Given the description of an element on the screen output the (x, y) to click on. 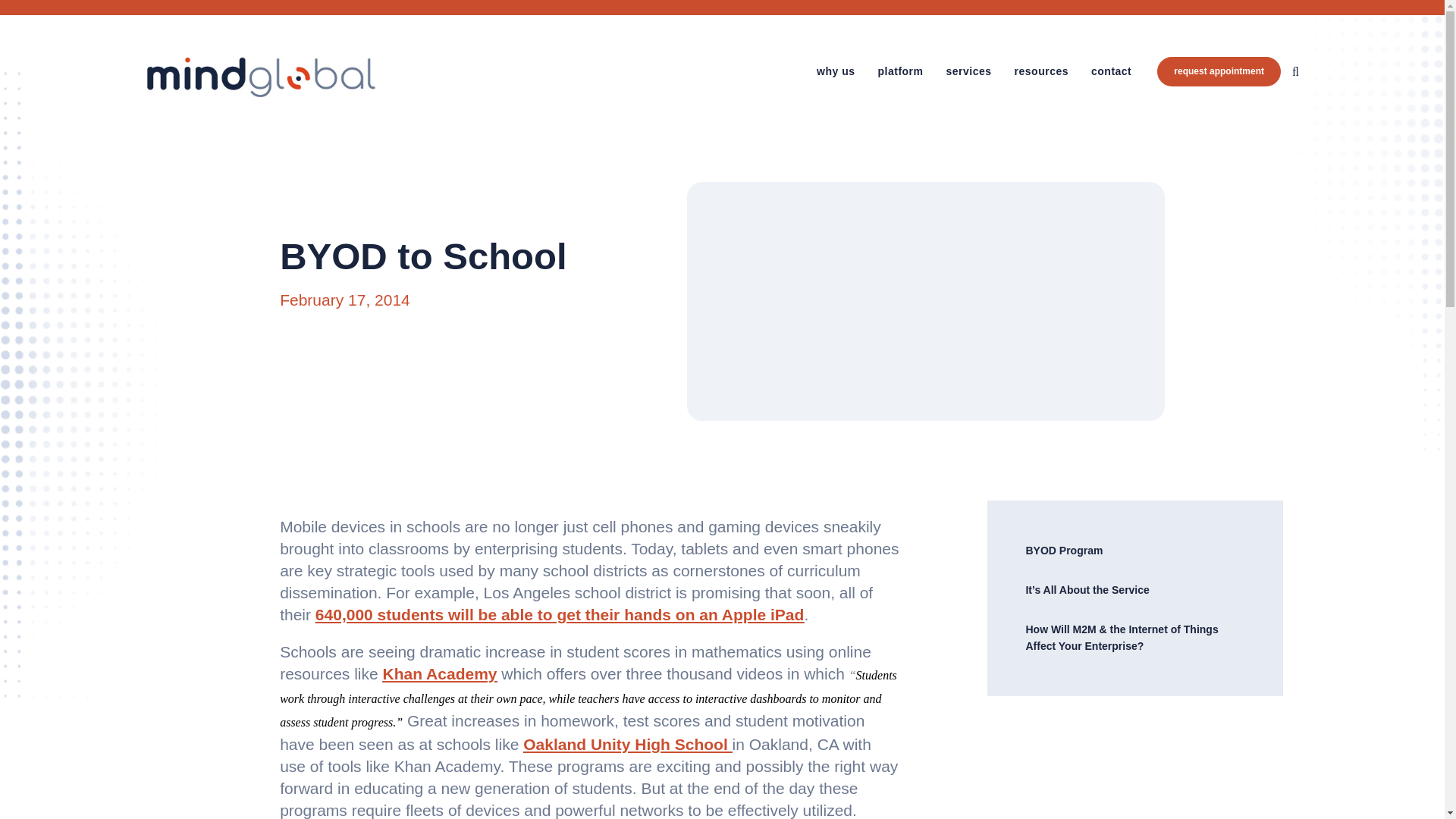
Oakland Unity High School (627, 743)
services (968, 71)
resources (1041, 71)
platform (900, 71)
Mindglobal a TEMs company (260, 76)
contact (1110, 71)
why us (835, 71)
Khan Academy (439, 673)
GO (1255, 70)
